Given the description of an element on the screen output the (x, y) to click on. 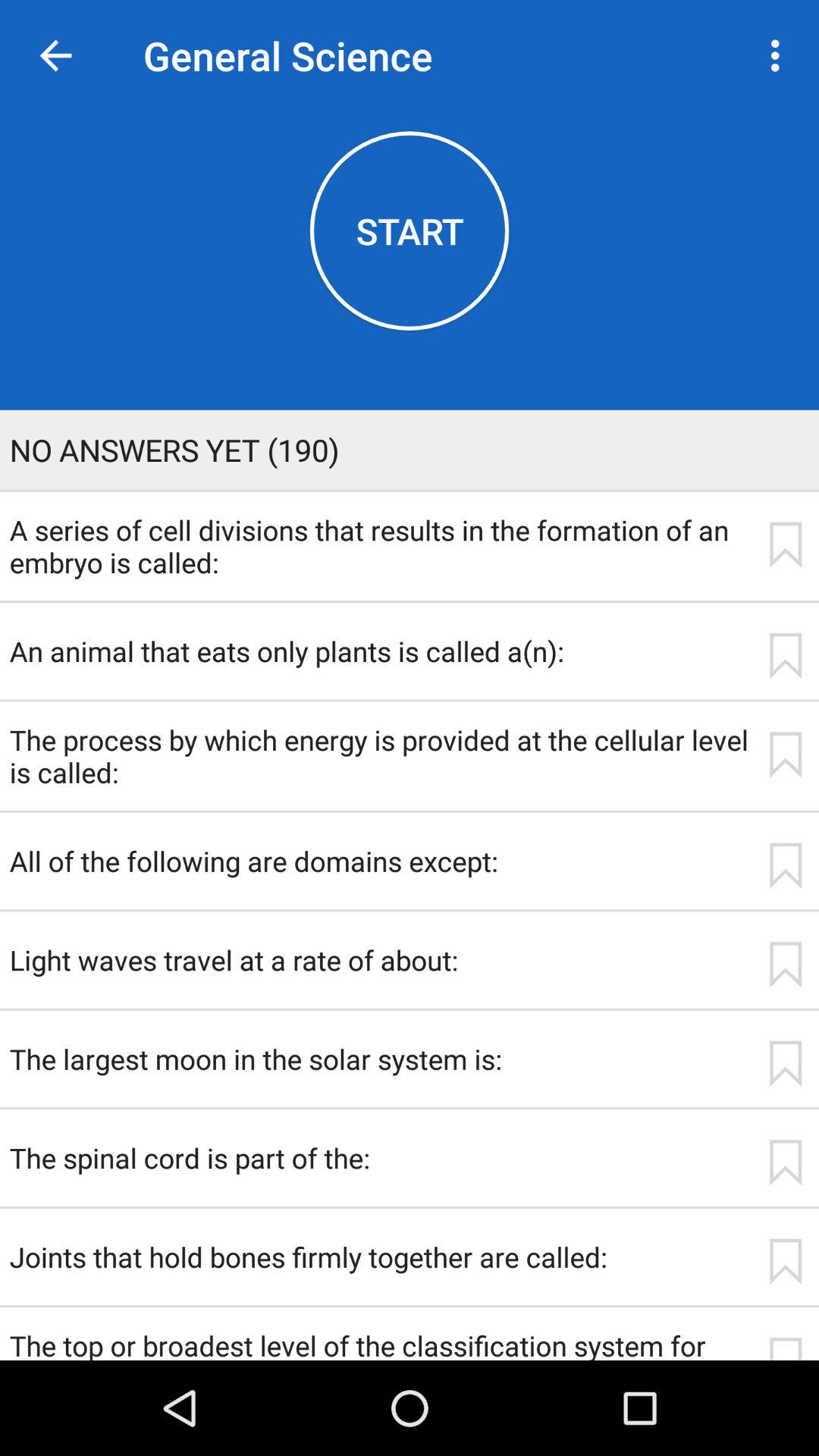
click the app next to the top or icon (784, 1348)
